Given the description of an element on the screen output the (x, y) to click on. 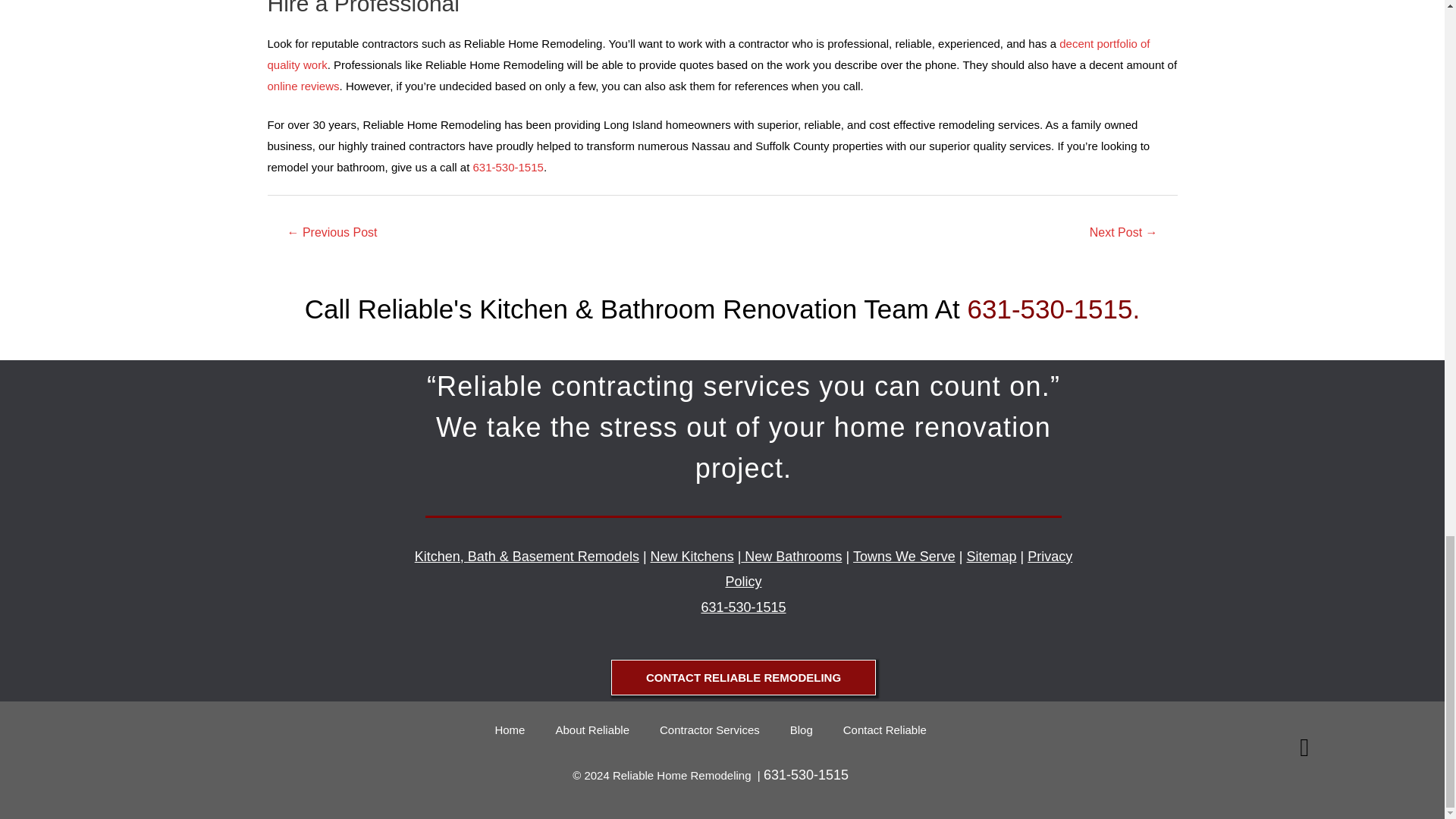
decent portfolio of quality work (708, 53)
631-530-1515 (743, 607)
Privacy Policy (898, 568)
New Bathrooms (791, 556)
About Reliable (592, 729)
CONTACT RELIABLE REMODELING (743, 677)
Sitemap (991, 556)
New Kitchens (691, 556)
online reviews (302, 85)
Towns We Serve (904, 556)
